Given the description of an element on the screen output the (x, y) to click on. 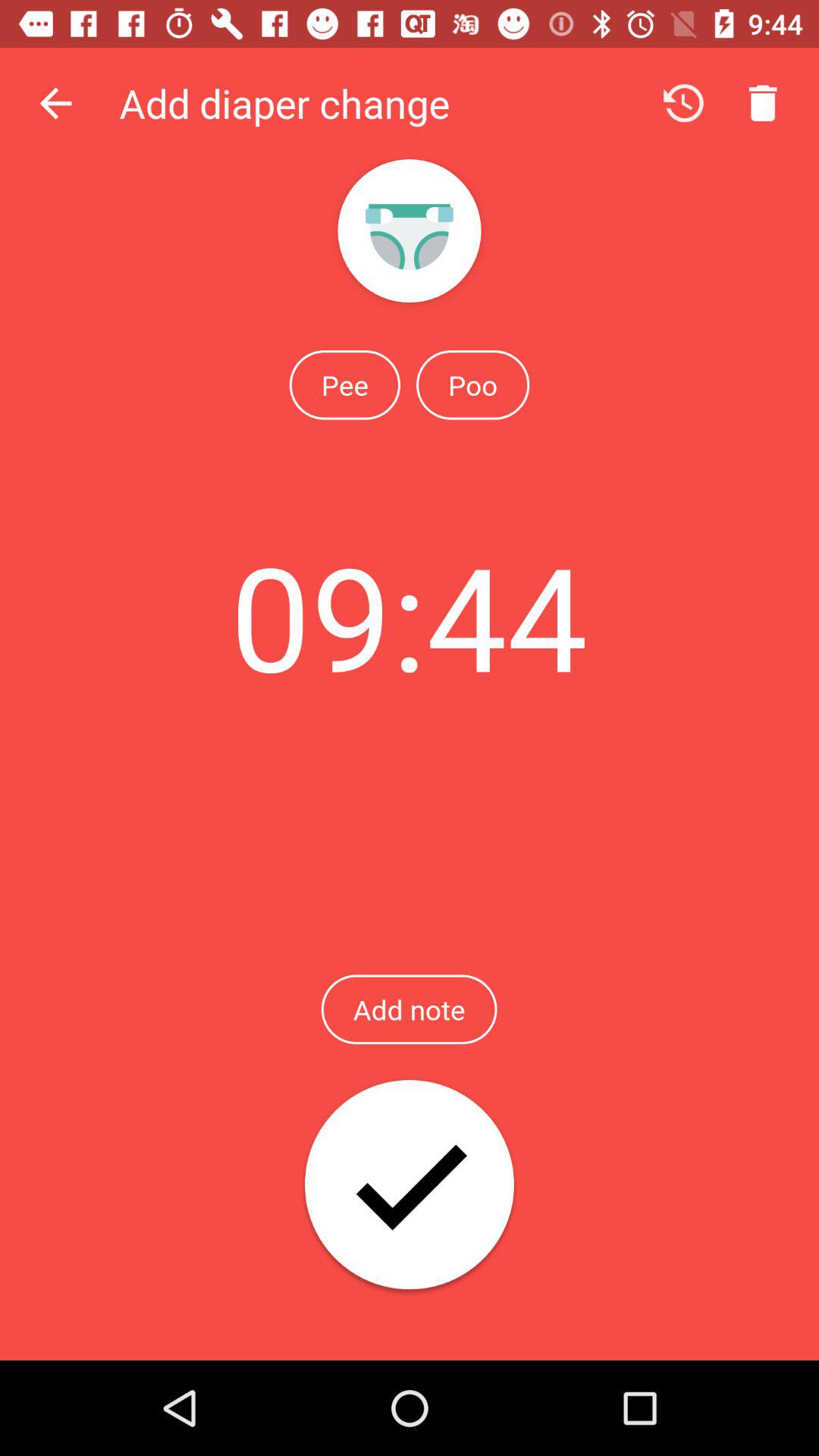
turn on the item to the left of the poo icon (344, 384)
